Given the description of an element on the screen output the (x, y) to click on. 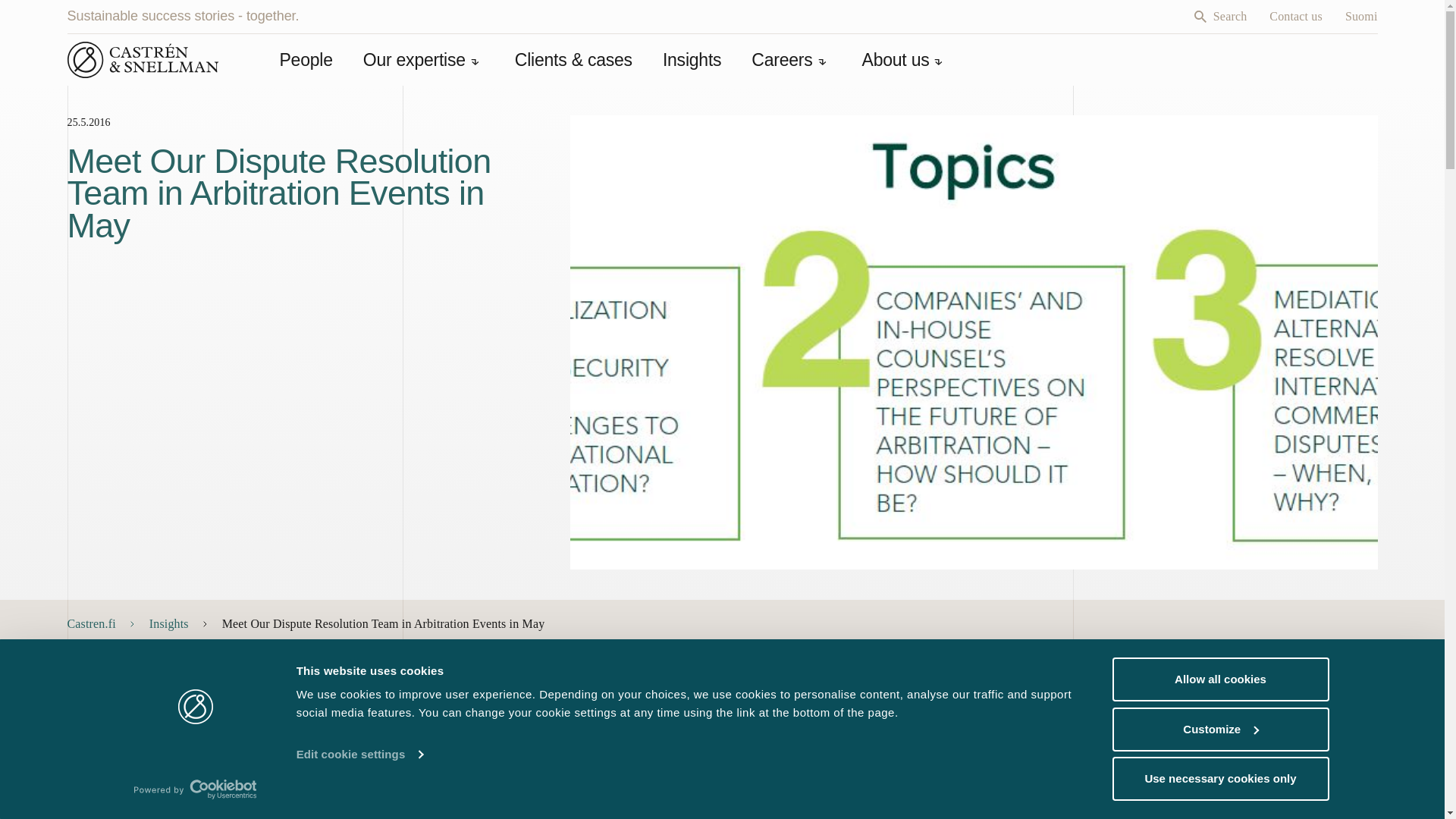
Allow all cookies (1219, 679)
Edit cookie settings (360, 753)
Customize (1219, 728)
Use necessary cookies only (1219, 778)
